Given the description of an element on the screen output the (x, y) to click on. 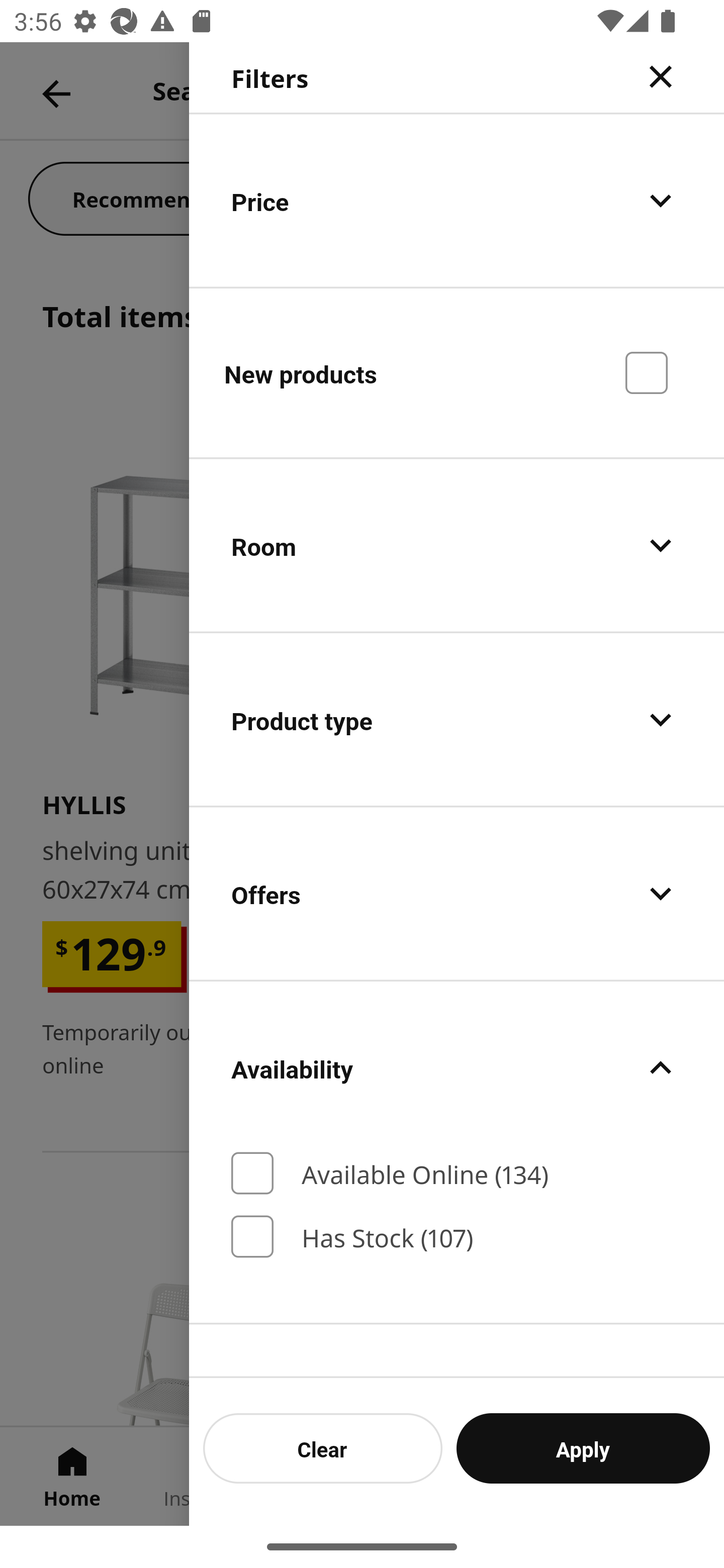
Price (456, 200)
New products (456, 371)
Room (456, 545)
Product type (456, 719)
Offers (456, 893)
Availability (456, 1067)
Available Online (134) (456, 1173)
Has Stock (107) (456, 1236)
Clear (322, 1447)
Apply (583, 1447)
